Given the description of an element on the screen output the (x, y) to click on. 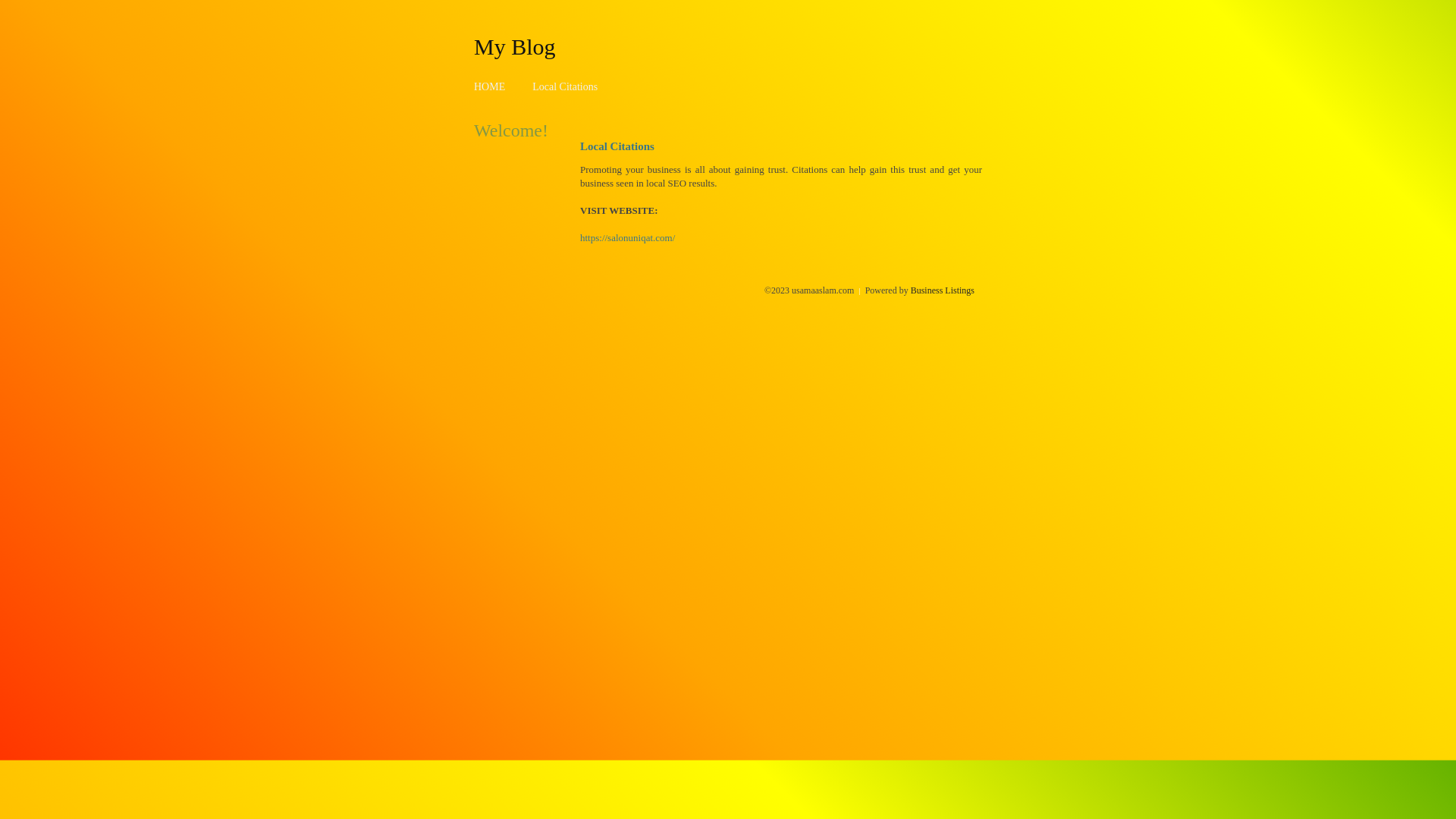
https://salonuniqat.com/ Element type: text (627, 237)
Local Citations Element type: text (564, 86)
Business Listings Element type: text (942, 290)
HOME Element type: text (489, 86)
My Blog Element type: text (514, 46)
